Given the description of an element on the screen output the (x, y) to click on. 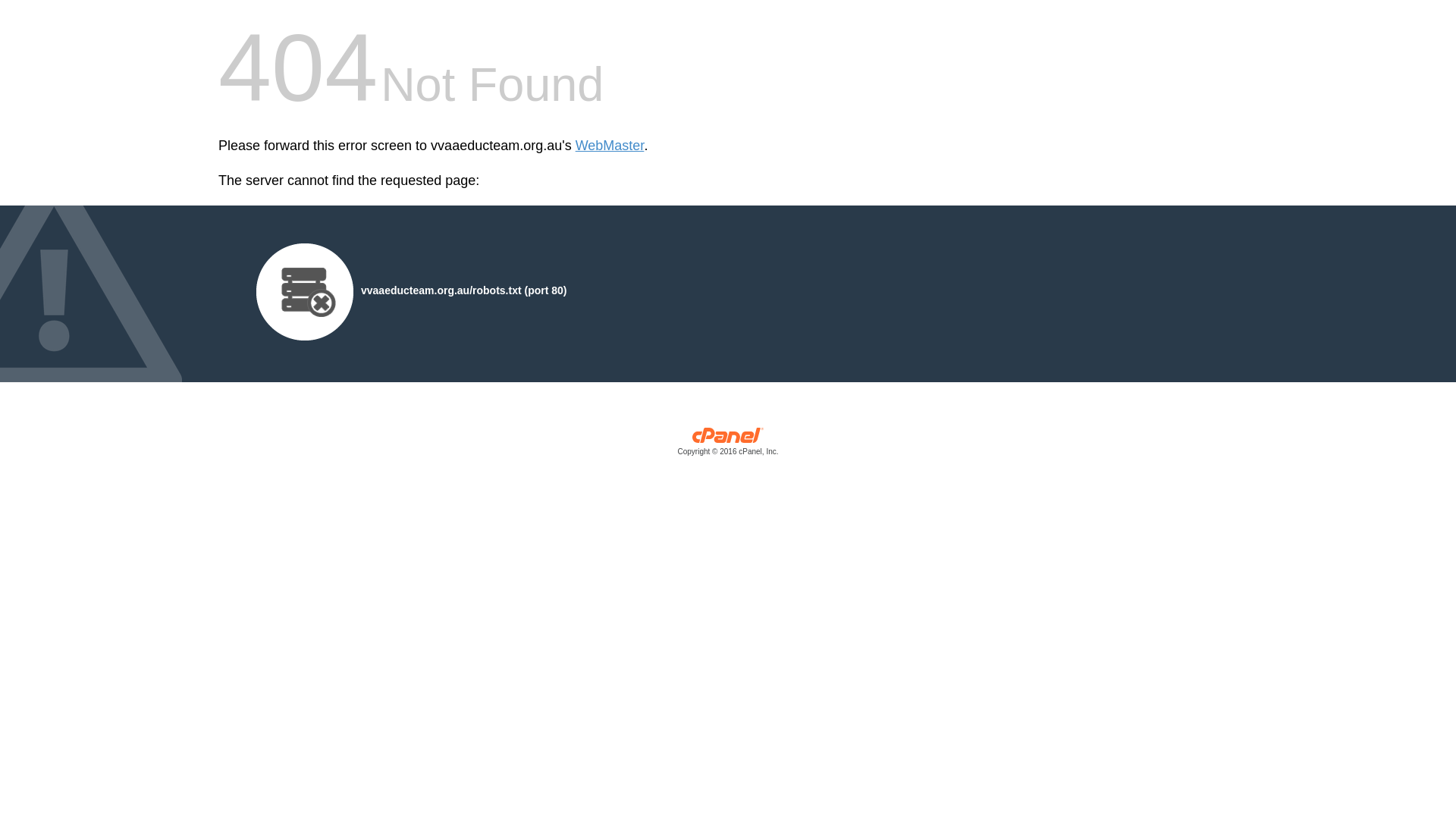
WebMaster Element type: text (609, 145)
